Given the description of an element on the screen output the (x, y) to click on. 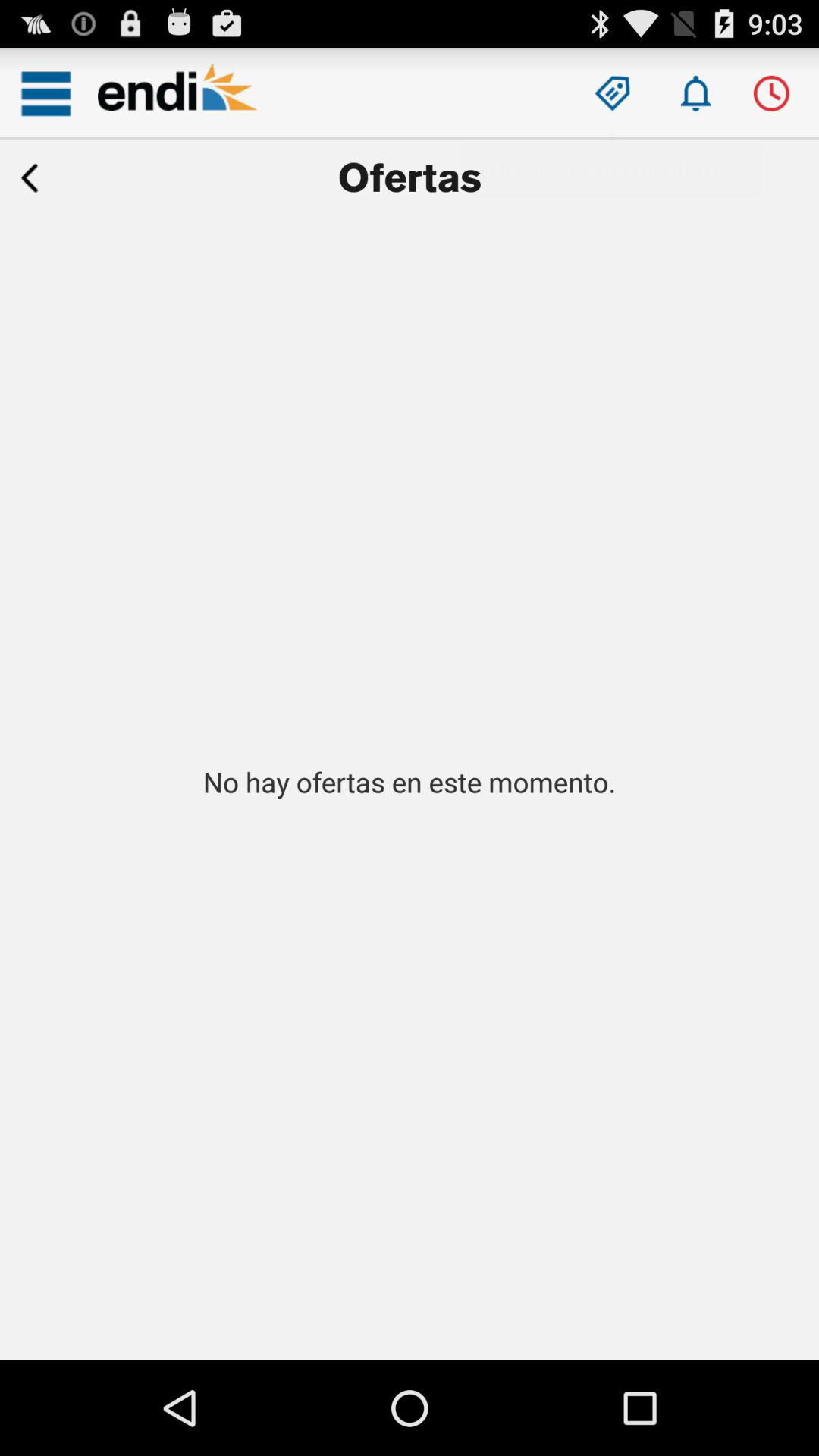
go to homepage (177, 93)
